Given the description of an element on the screen output the (x, y) to click on. 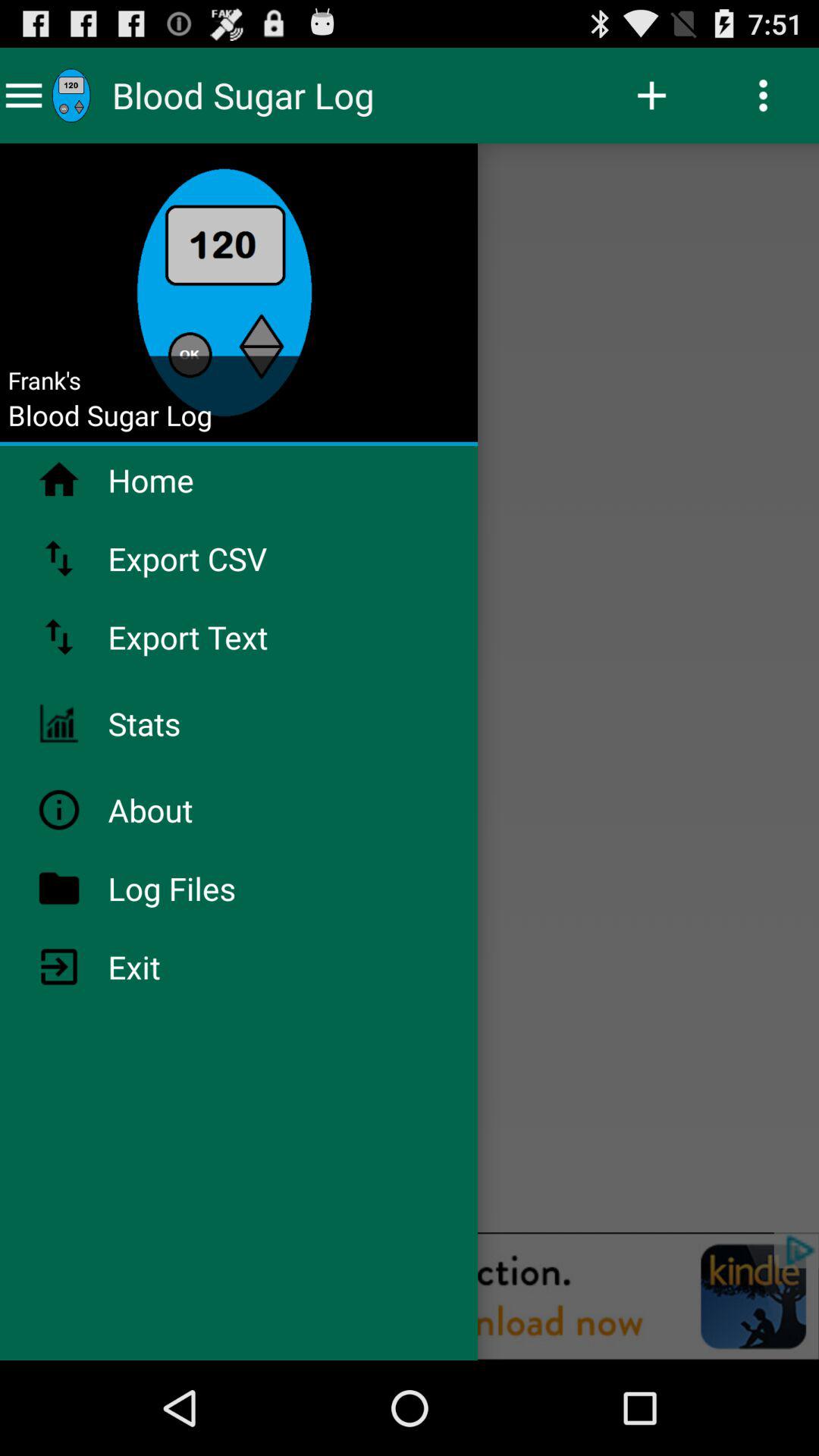
launch item below export text icon (184, 723)
